Given the description of an element on the screen output the (x, y) to click on. 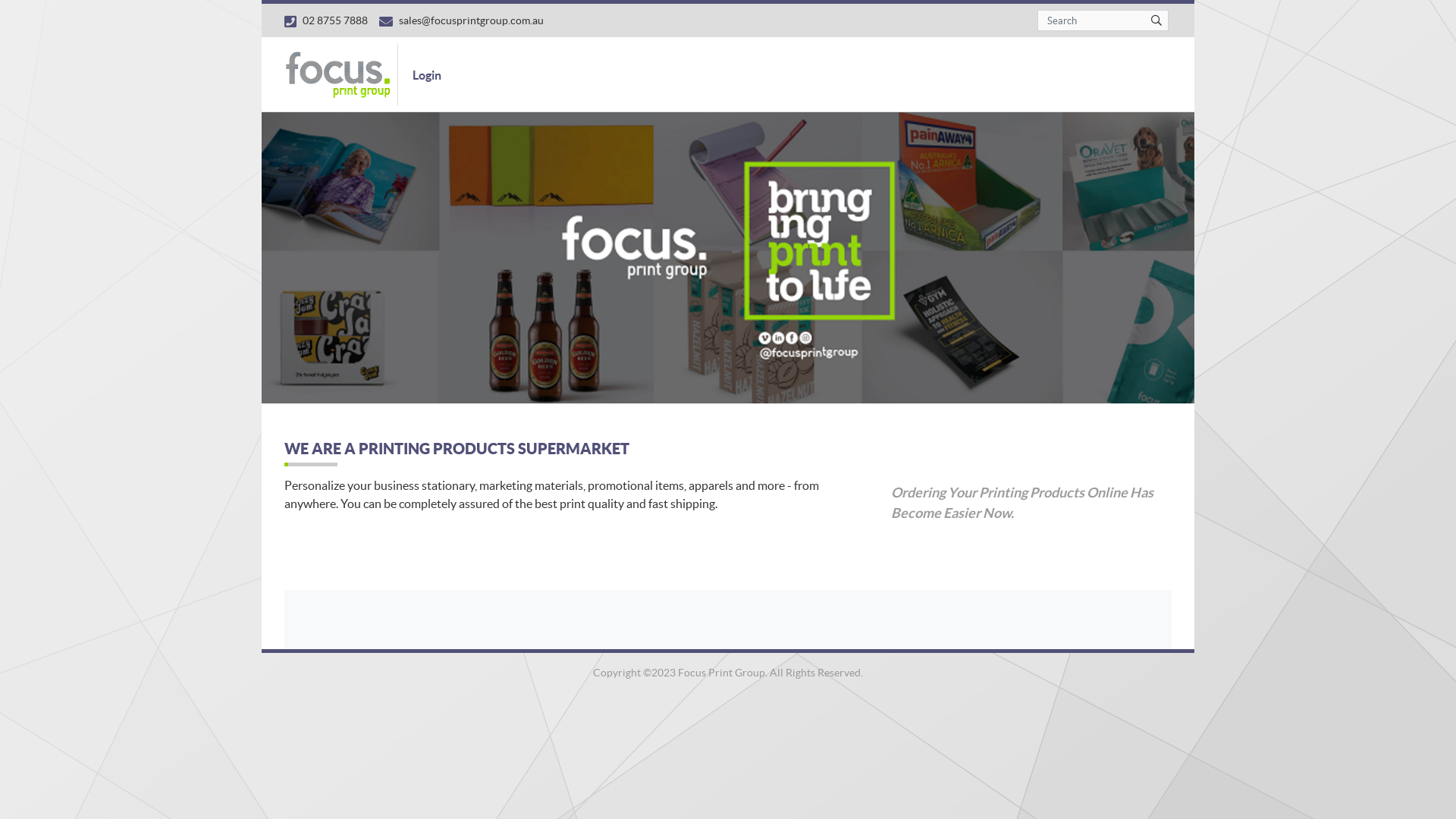
02 8755 7888 Element type: text (325, 19)
banner 2 Element type: hover (727, 257)
Login Element type: text (426, 74)
sales@focusprintgroup.com.au Element type: text (461, 19)
